Given the description of an element on the screen output the (x, y) to click on. 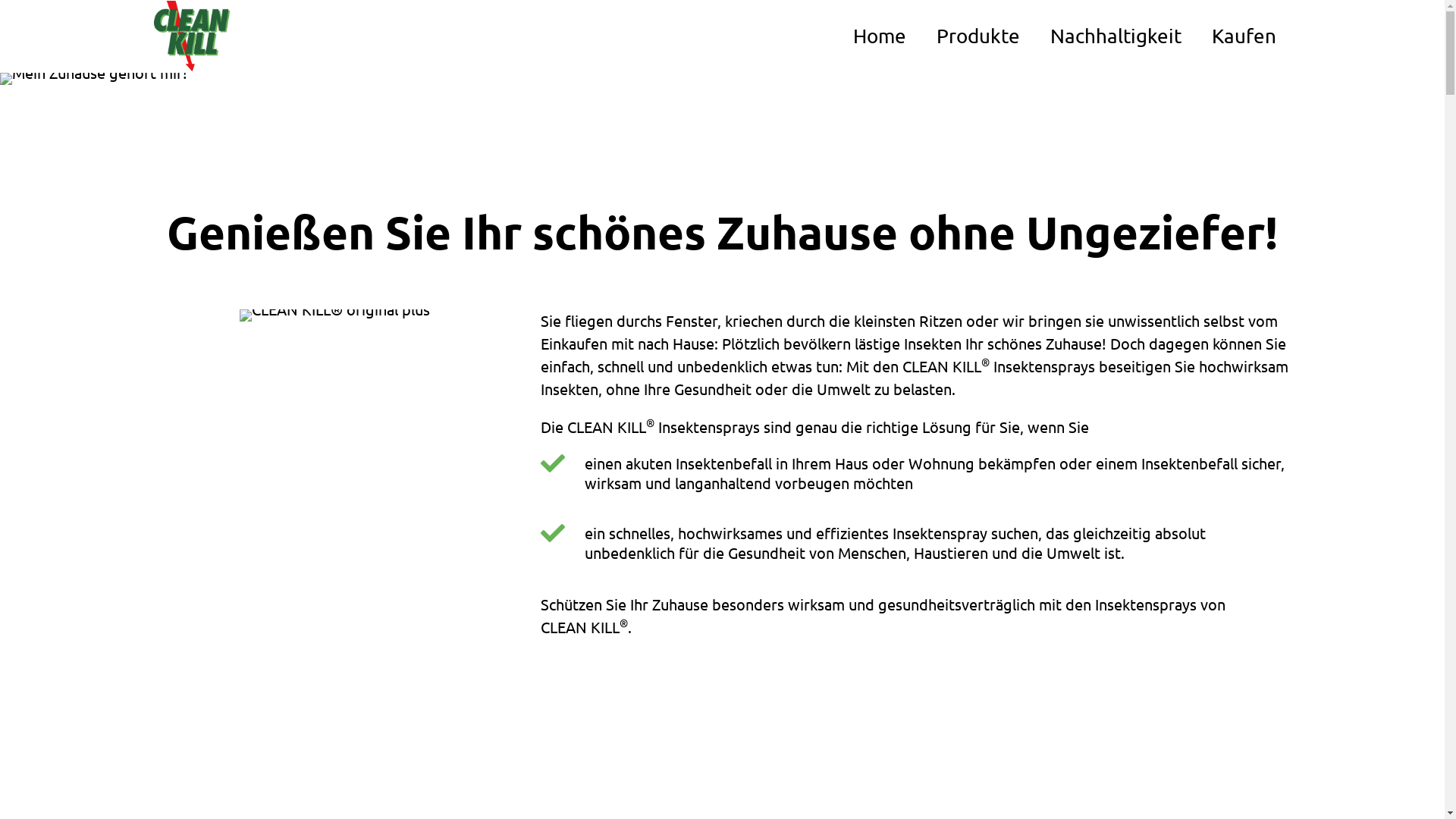
Home Element type: text (878, 36)
Nachhaltigkeit Element type: text (1114, 36)
Zur Startseite Element type: hover (191, 36)
Kaufen Element type: text (1243, 36)
Produkte Element type: text (977, 36)
